Given the description of an element on the screen output the (x, y) to click on. 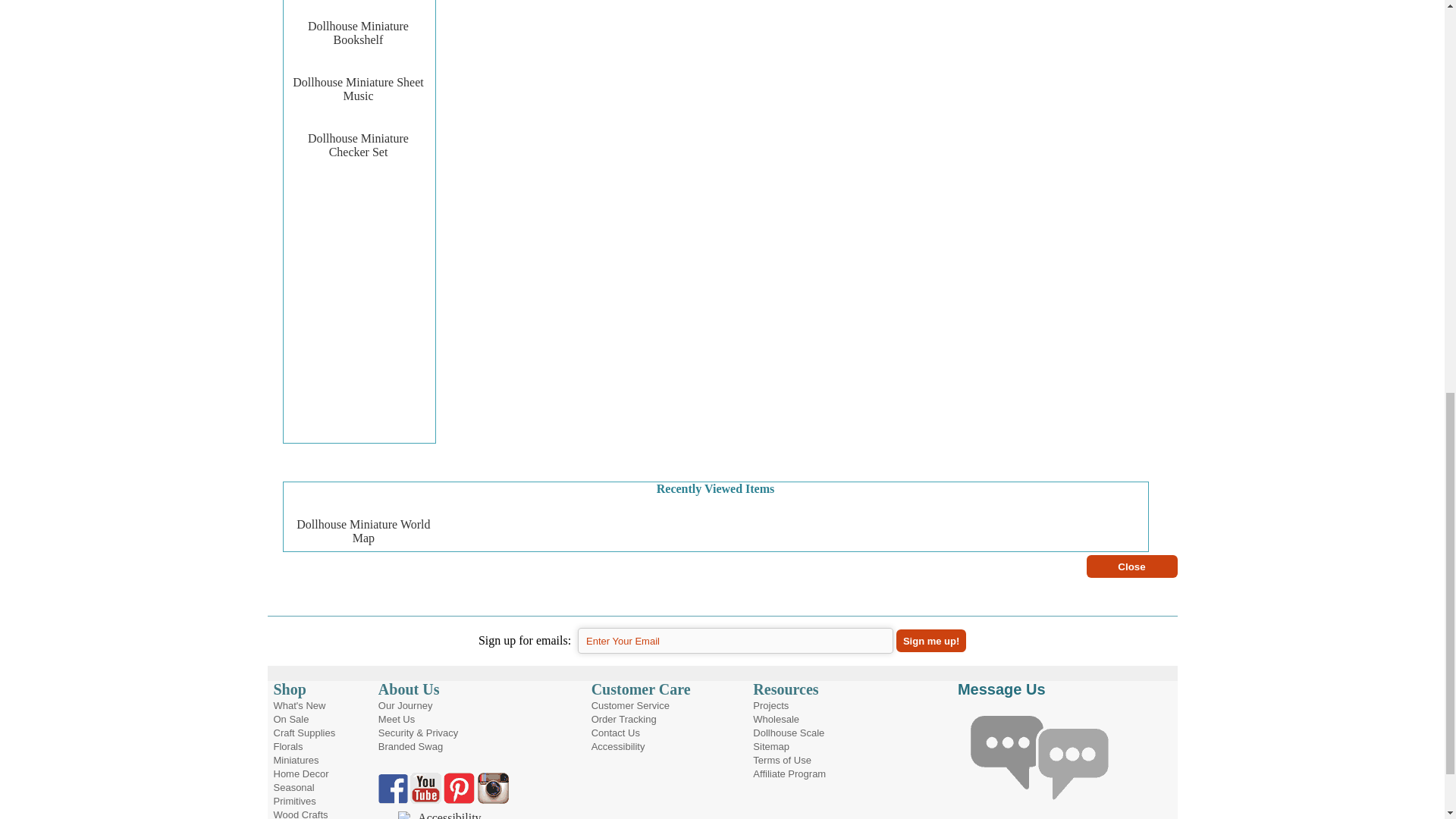
Sign me up! (931, 640)
Enter Your Email (735, 640)
